Given the description of an element on the screen output the (x, y) to click on. 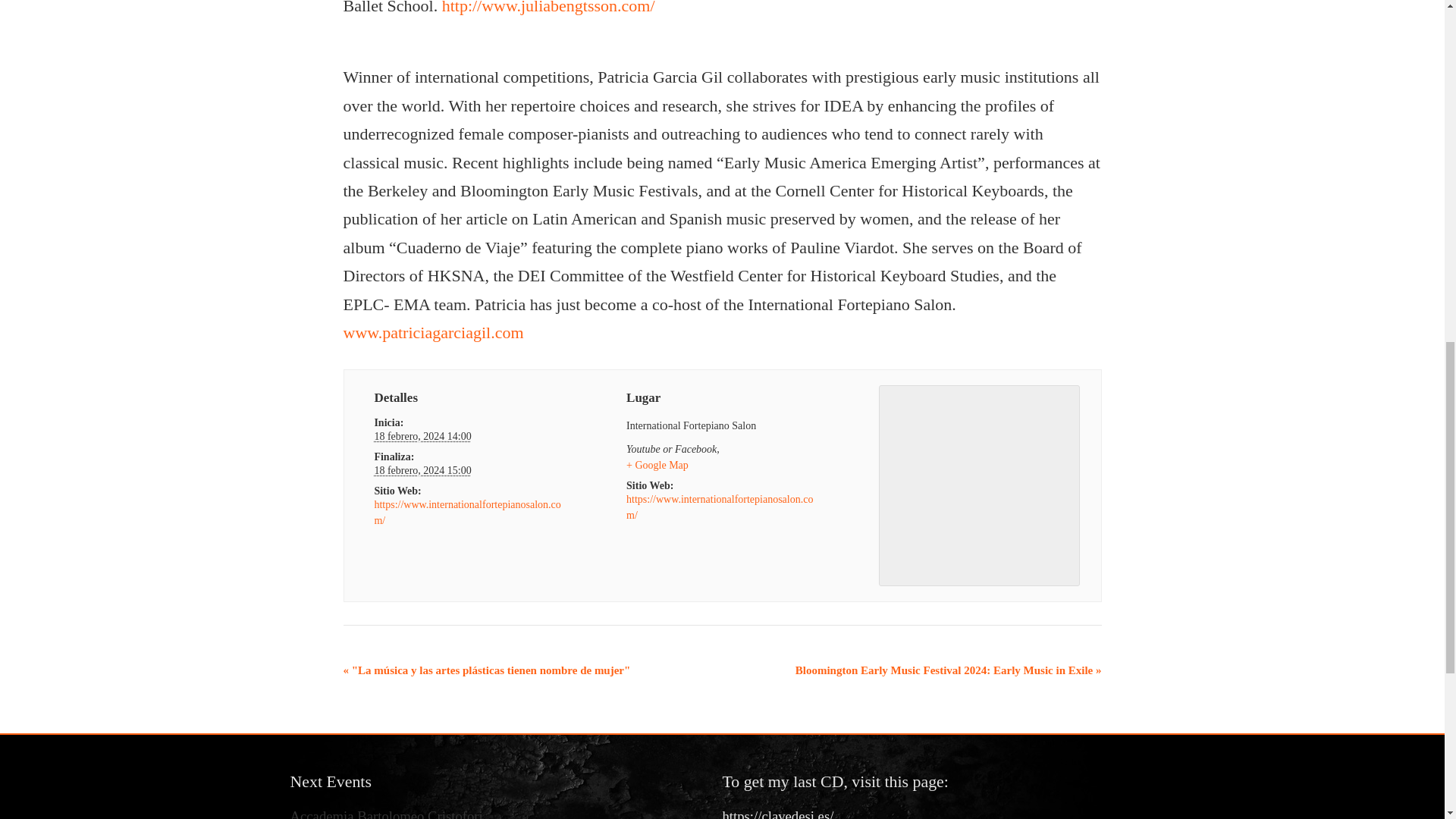
2024-02-18 (422, 436)
Click para ver Mapa de Google (657, 464)
Accademia Bartolomeo Cristofori (385, 813)
2024-02-18 (422, 470)
www.patriciagarciagil.com (432, 332)
